Given the description of an element on the screen output the (x, y) to click on. 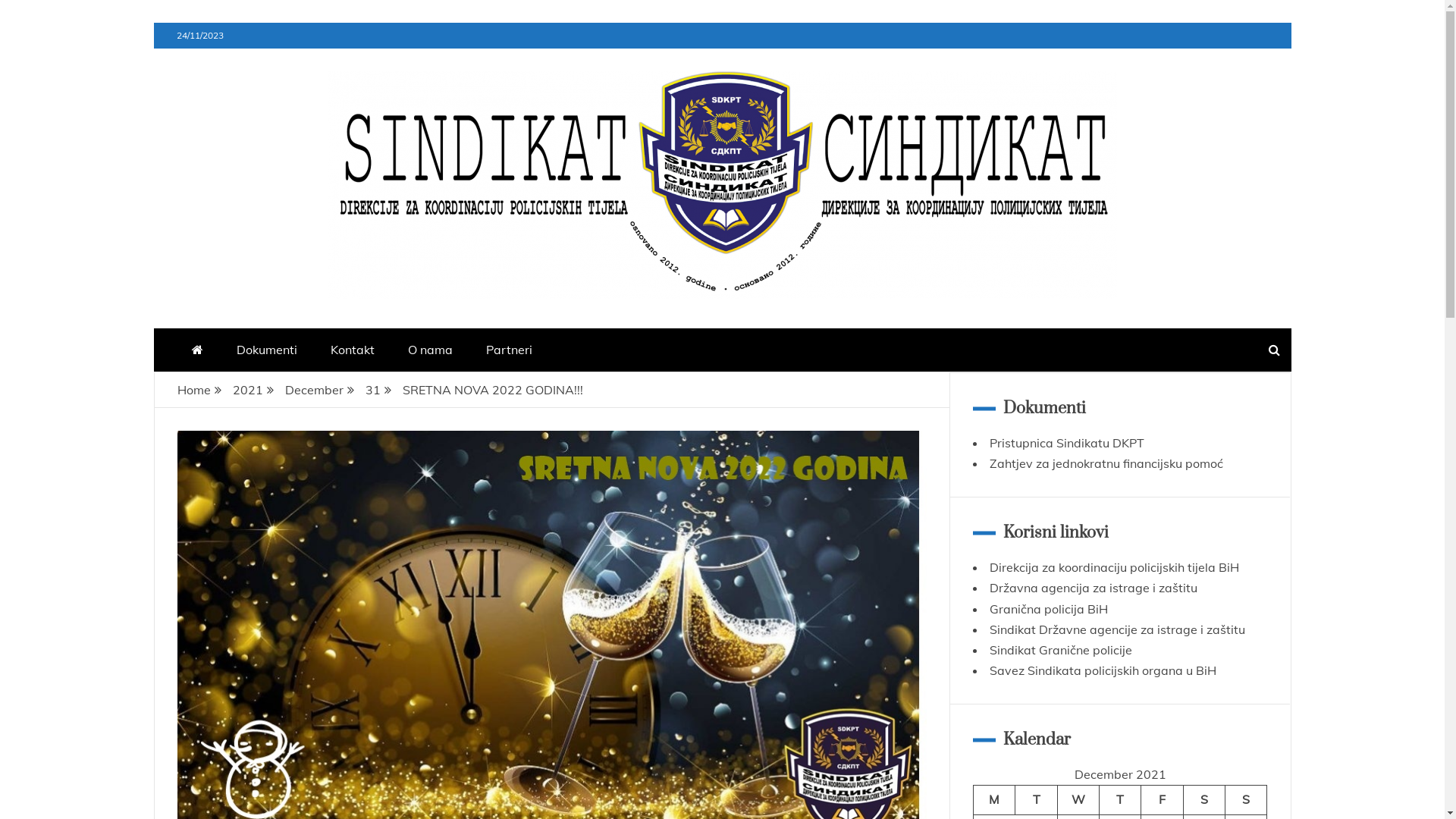
Home Element type: text (193, 389)
Dokumenti Element type: text (266, 349)
2021 Element type: text (247, 389)
Sindikat Direkcije za koordinaciju policijskih tijela BiH Element type: text (529, 321)
Savez Sindikata policijskih organa u BiH Element type: text (1102, 669)
December Element type: text (314, 389)
Partneri Element type: text (508, 349)
Search Element type: text (31, 13)
Skip to content Element type: text (153, 21)
Pristupnica Sindikatu DKPT Element type: text (1066, 442)
31 Element type: text (372, 389)
Direkcija za koordinaciju policijskih tijela BiH Element type: text (1114, 566)
O nama Element type: text (429, 349)
Kontakt Element type: text (352, 349)
